Given the description of an element on the screen output the (x, y) to click on. 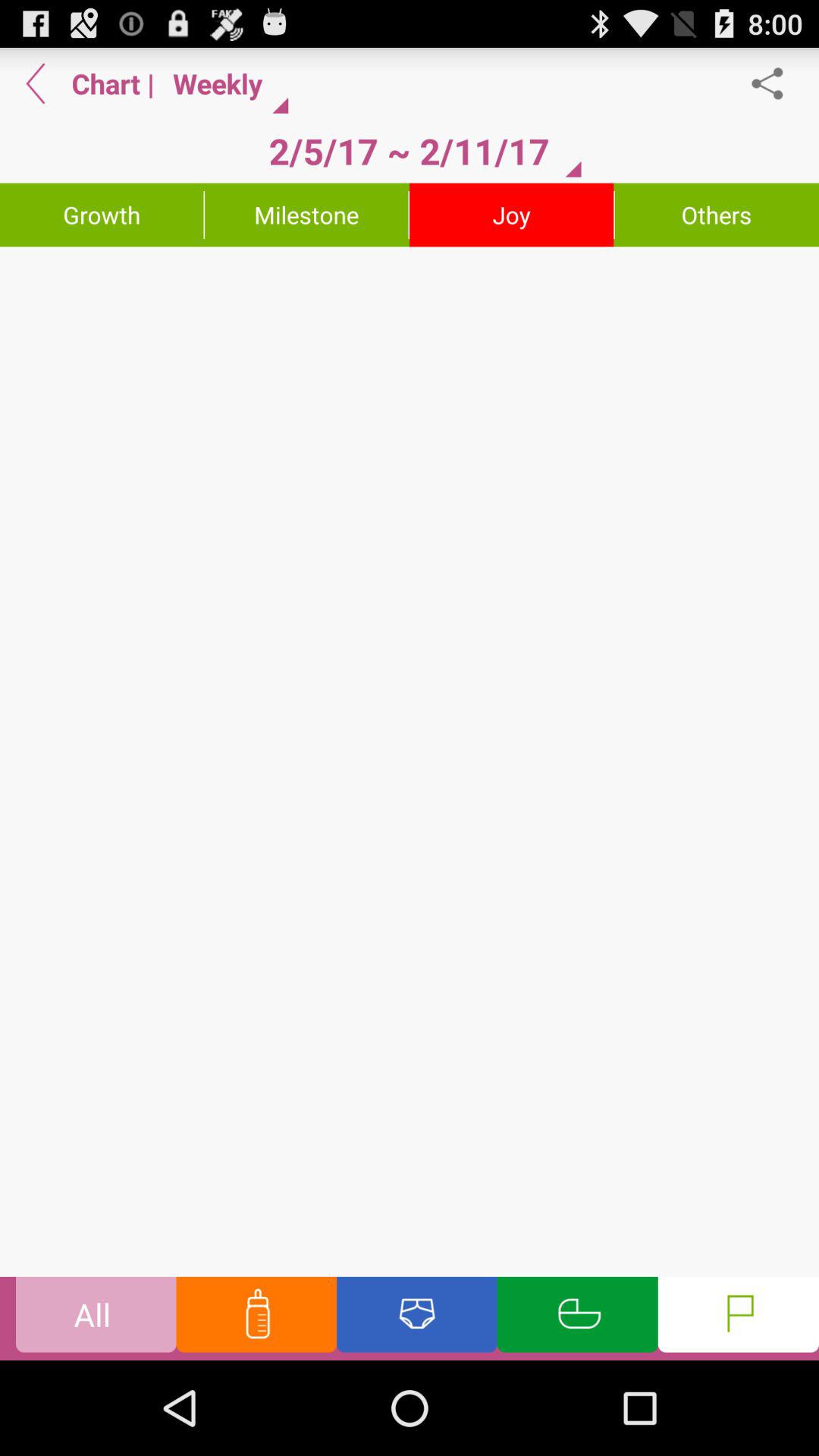
turn off button below the weekly item (409, 151)
